Given the description of an element on the screen output the (x, y) to click on. 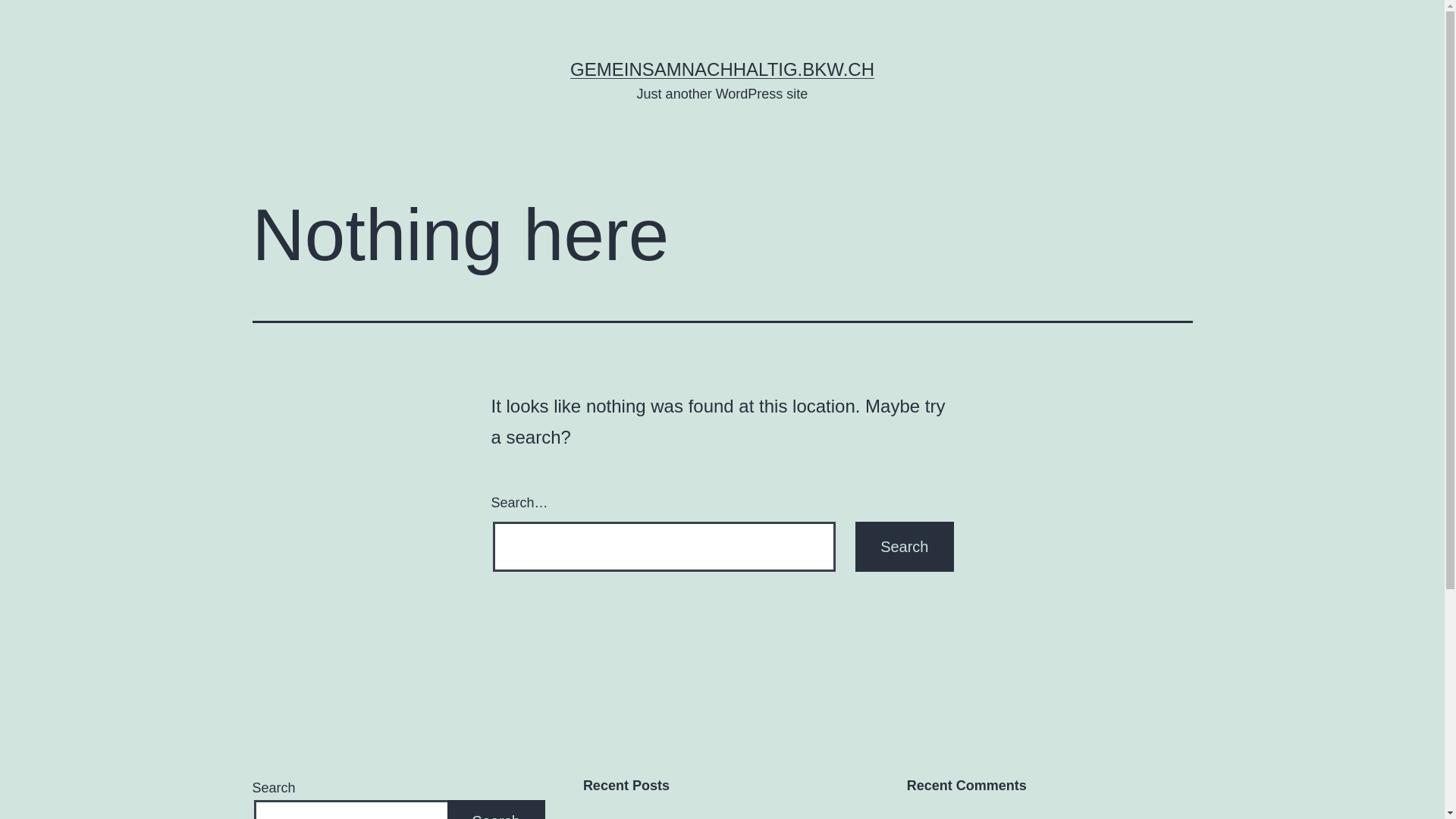
GEMEINSAMNACHHALTIG.BKW.CH Element type: text (722, 69)
Search Element type: text (904, 546)
